Given the description of an element on the screen output the (x, y) to click on. 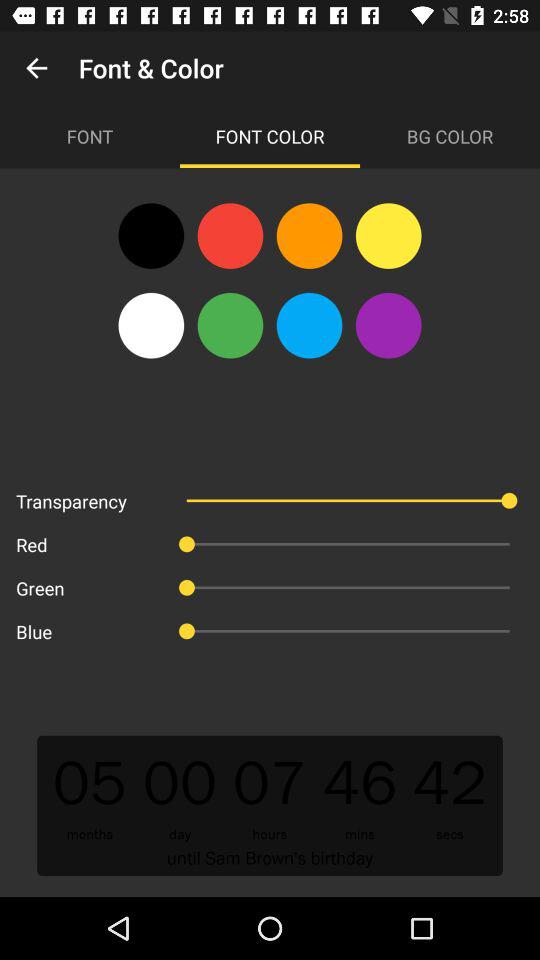
press the icon below the font color (388, 235)
